Given the description of an element on the screen output the (x, y) to click on. 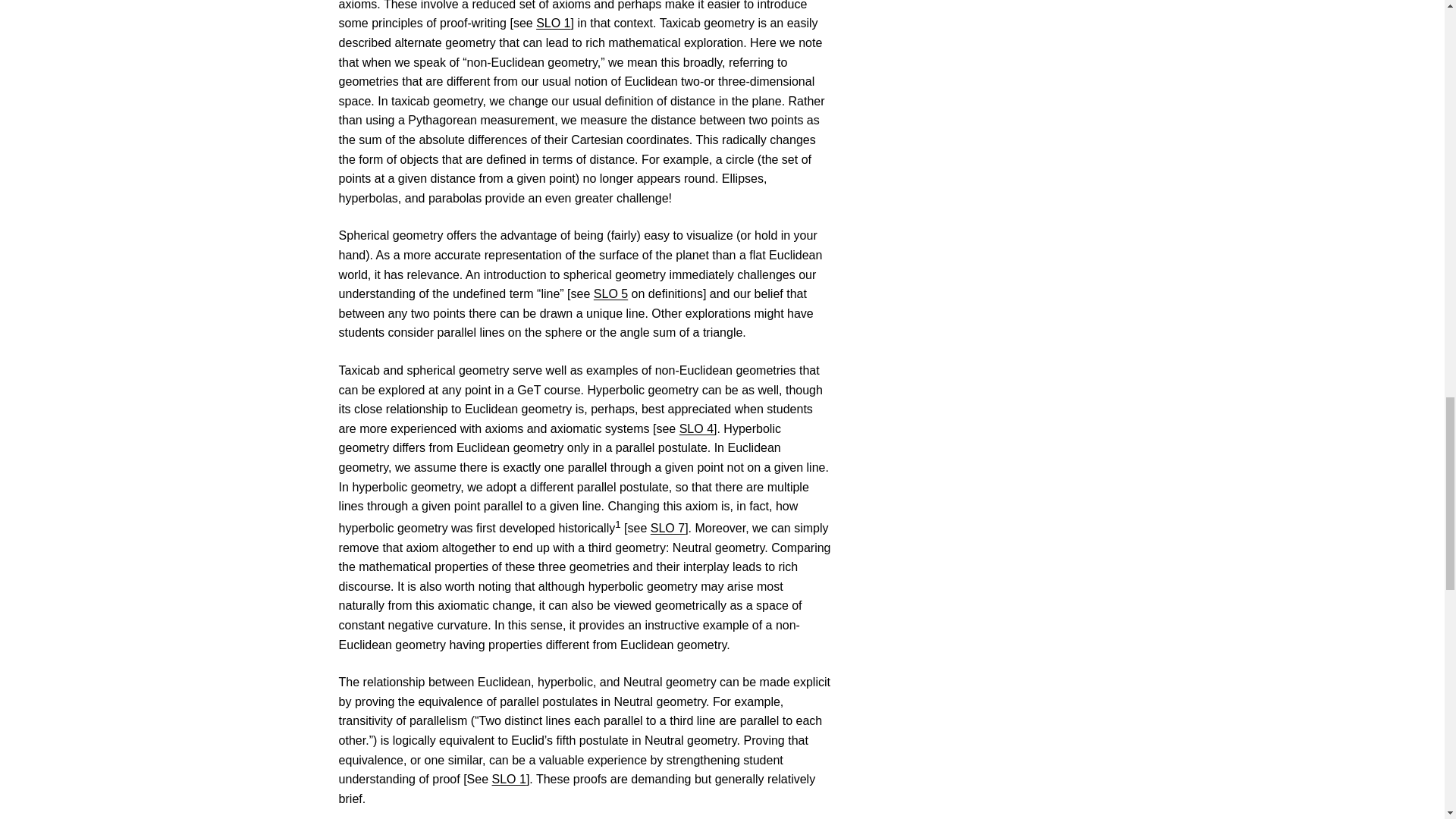
SLO 1 (552, 22)
SLO 4 (696, 428)
SLO 5 (610, 293)
SLO 1 (508, 779)
SLO 7 (667, 527)
